Given the description of an element on the screen output the (x, y) to click on. 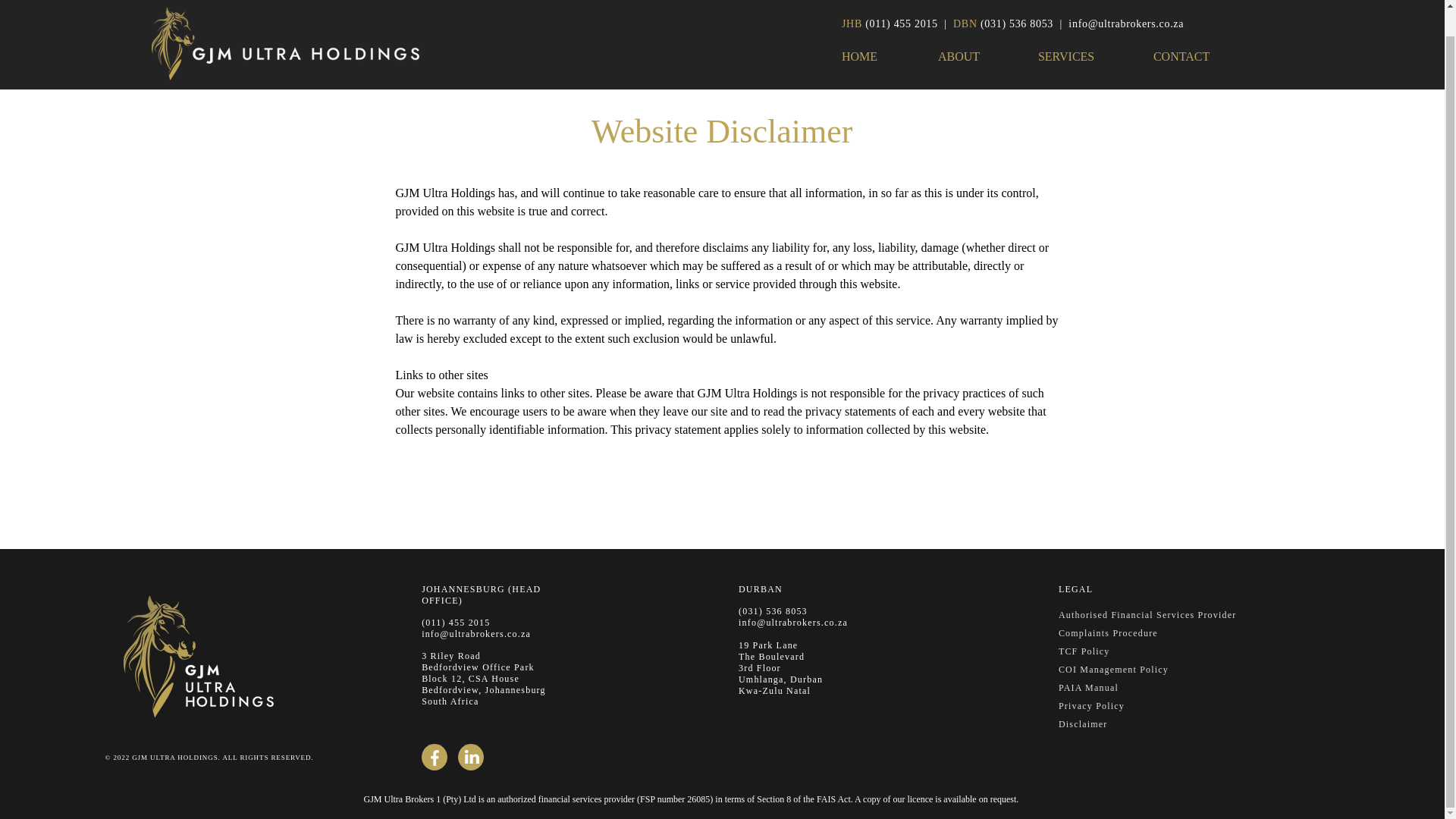
GJM Ultra Brokers (204, 656)
ABOUT (980, 30)
Disclaimer (1083, 724)
HOME (882, 30)
CONTACT (1203, 30)
Authorised Financial Services Provider (1147, 614)
Privacy Policy (1091, 706)
Complaints Procedure (1107, 633)
COI Management Policy (1113, 669)
TCF Policy (1083, 651)
GJM Ultra Brokers (288, 27)
PAIA Manual (1088, 687)
